Given the description of an element on the screen output the (x, y) to click on. 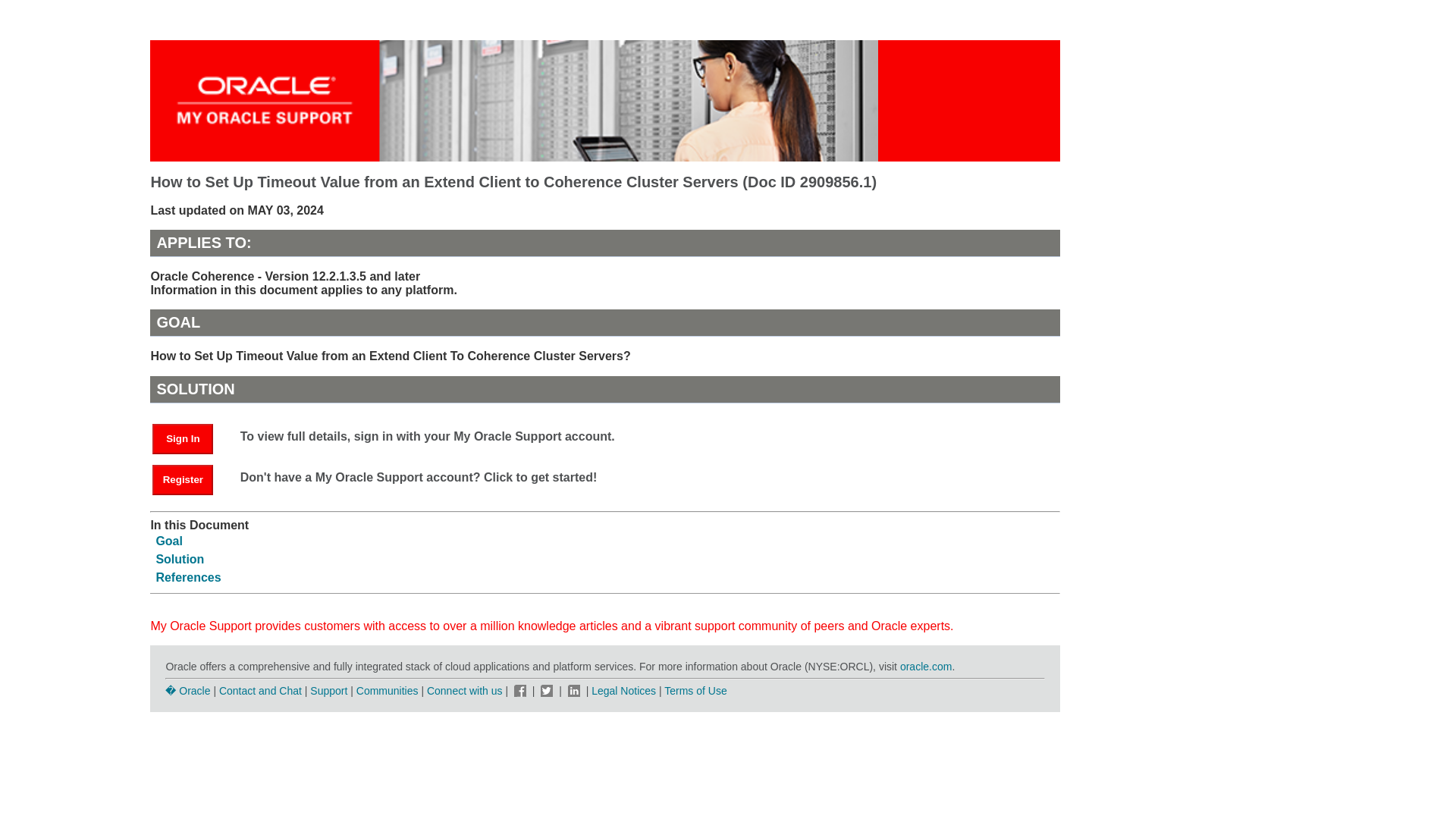
Legal Notices (623, 690)
Solution (179, 558)
Communities (387, 690)
Terms of Use (694, 690)
Register (190, 478)
Contact and Chat (260, 690)
Support (328, 690)
References (188, 576)
Goal (169, 540)
Register (182, 480)
